Given the description of an element on the screen output the (x, y) to click on. 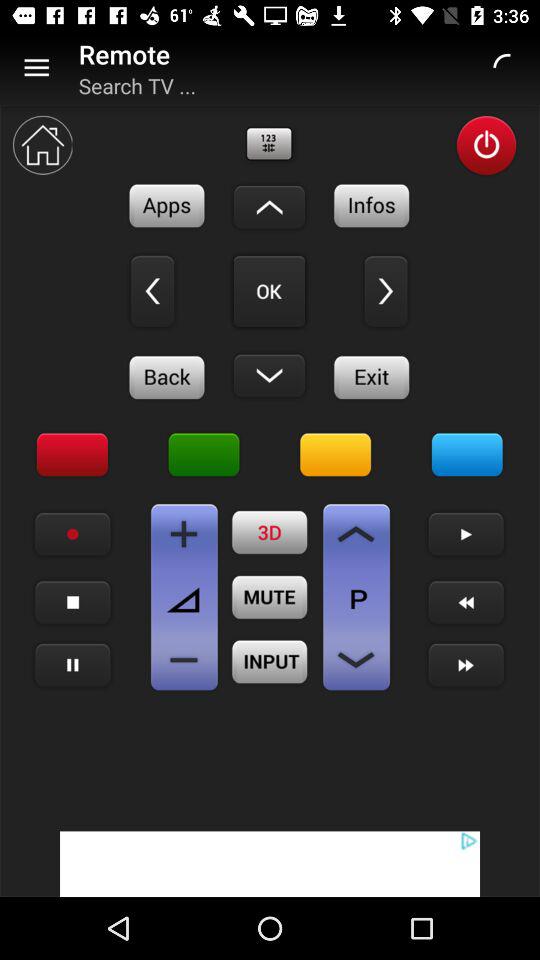
go to advertisement (270, 864)
